Given the description of an element on the screen output the (x, y) to click on. 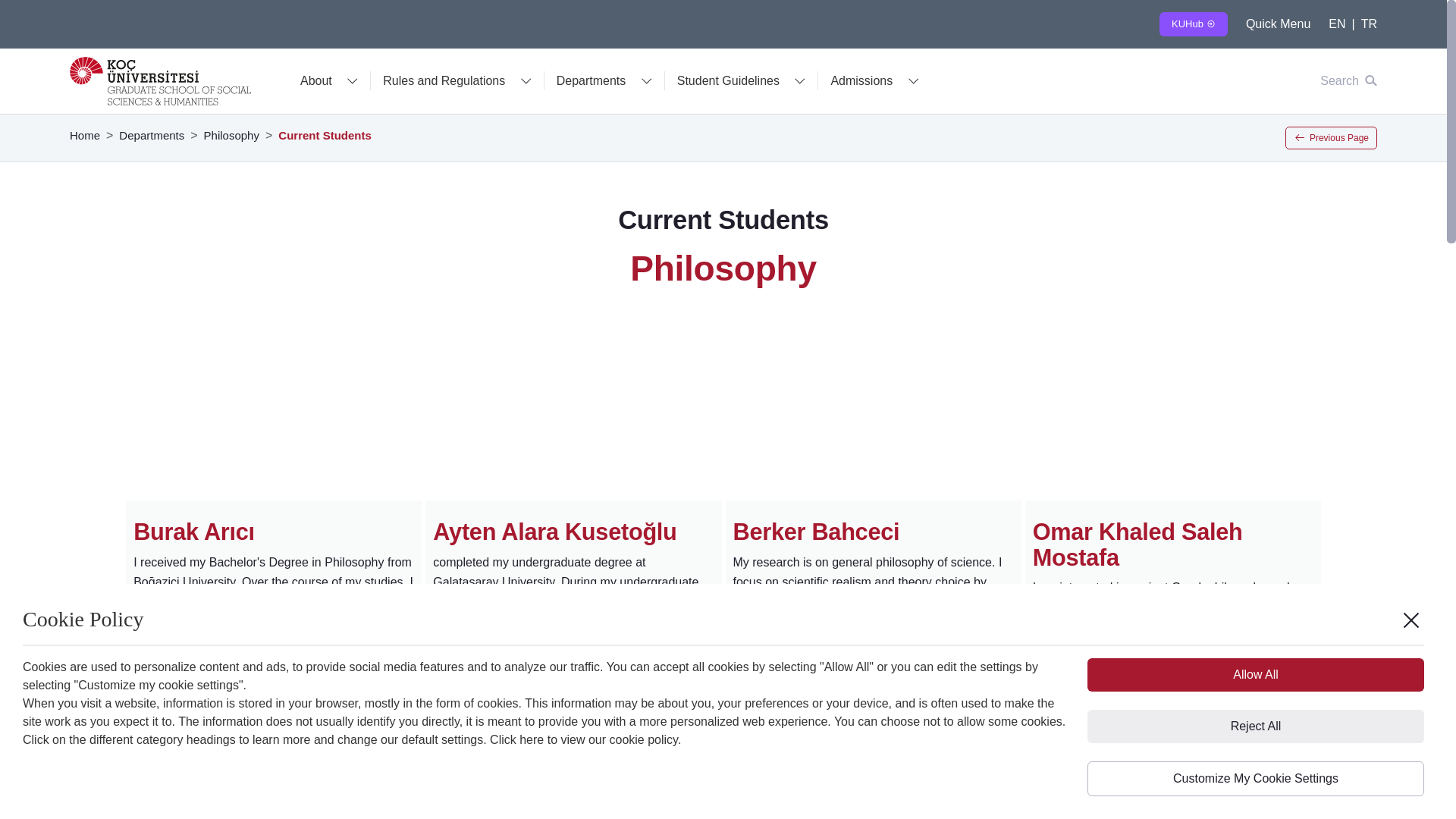
TR (1369, 23)
KUHub (1192, 24)
Quick Menu (1278, 23)
About (328, 81)
EN (1336, 23)
